Given the description of an element on the screen output the (x, y) to click on. 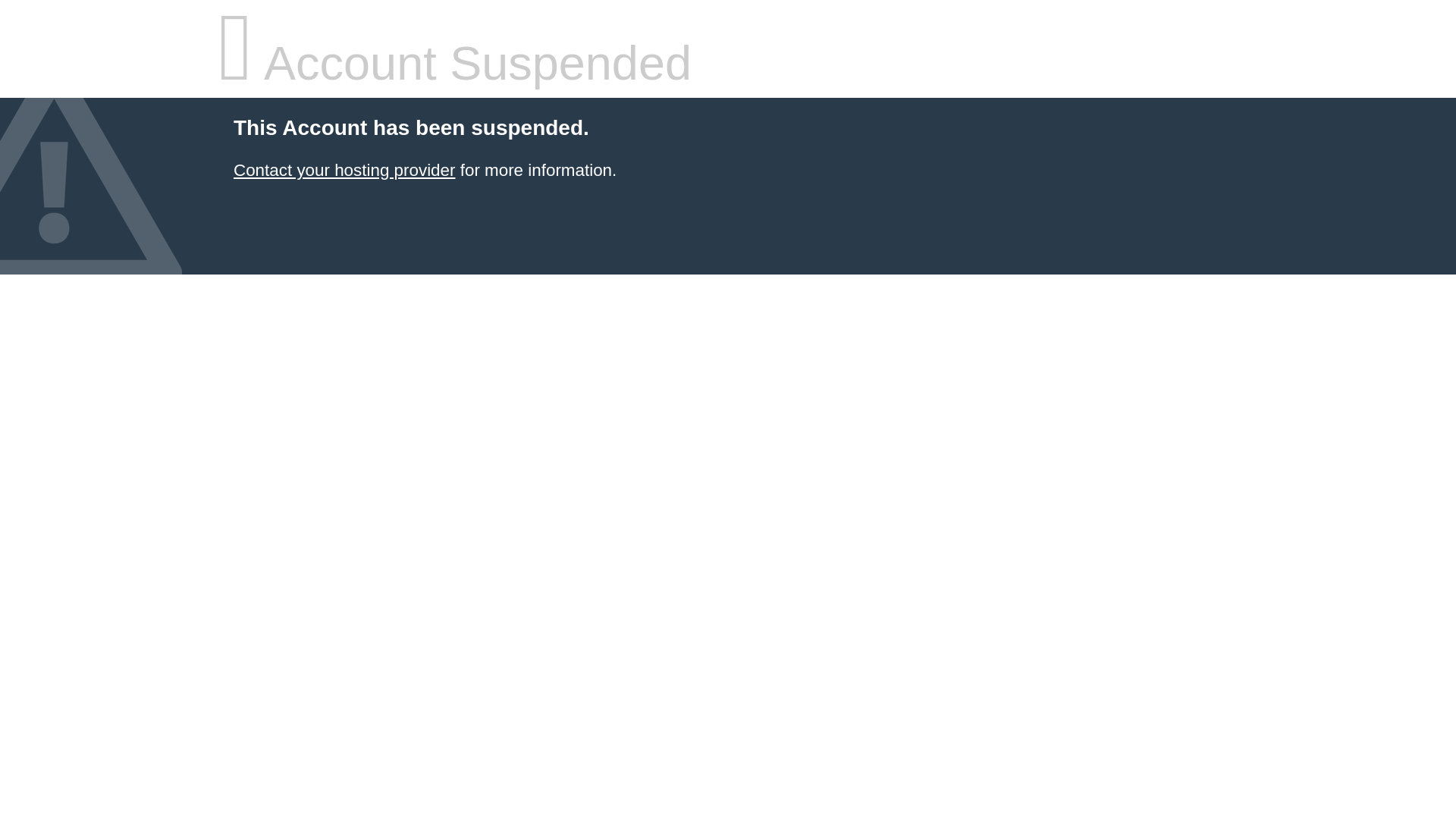
Contact your hosting provider (343, 169)
